Given the description of an element on the screen output the (x, y) to click on. 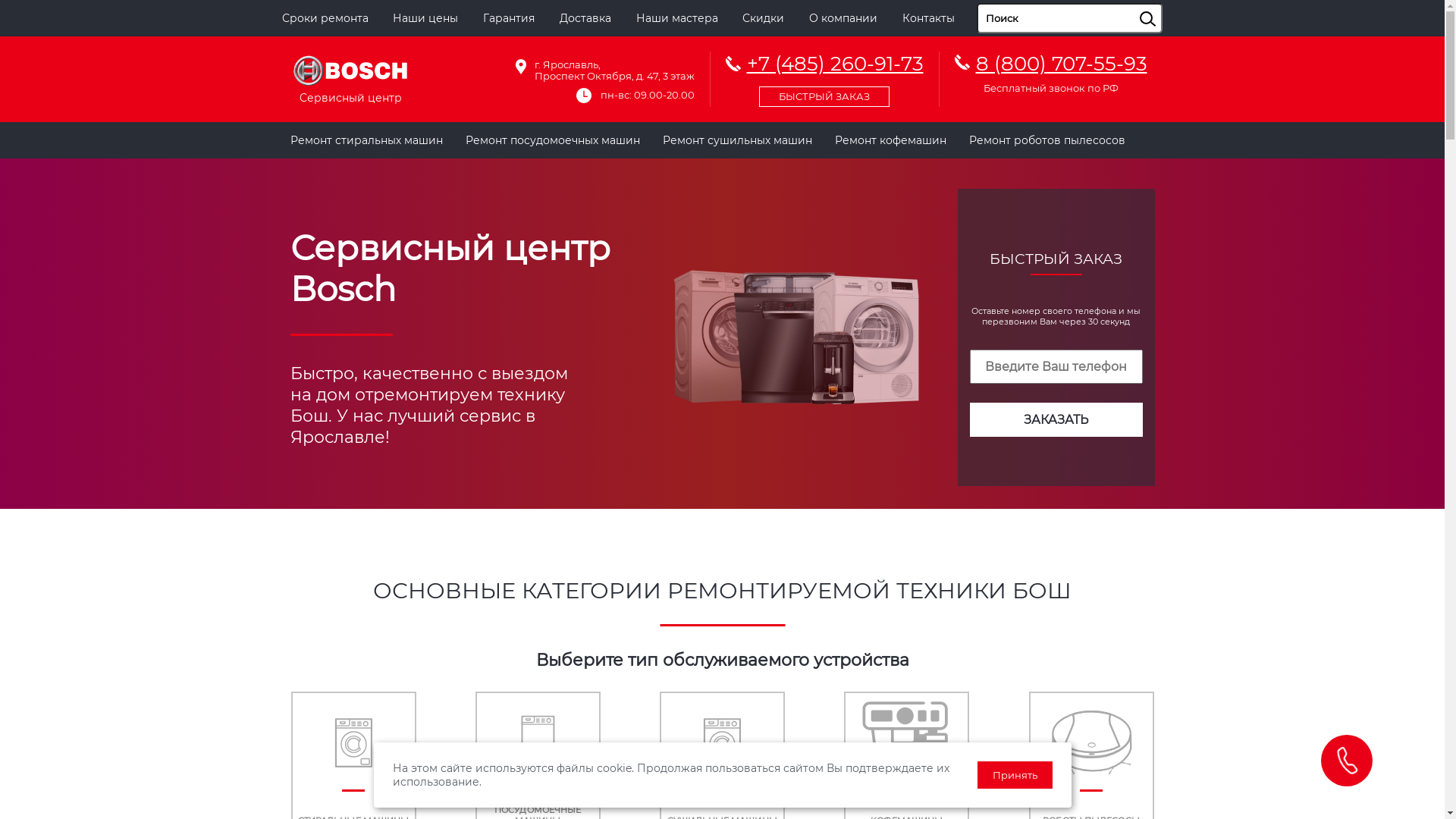
sisea.search Element type: text (1165, 3)
+7 (485) 260-91-73 Element type: text (823, 77)
8 (800) 707-55-93 Element type: text (1060, 63)
